Given the description of an element on the screen output the (x, y) to click on. 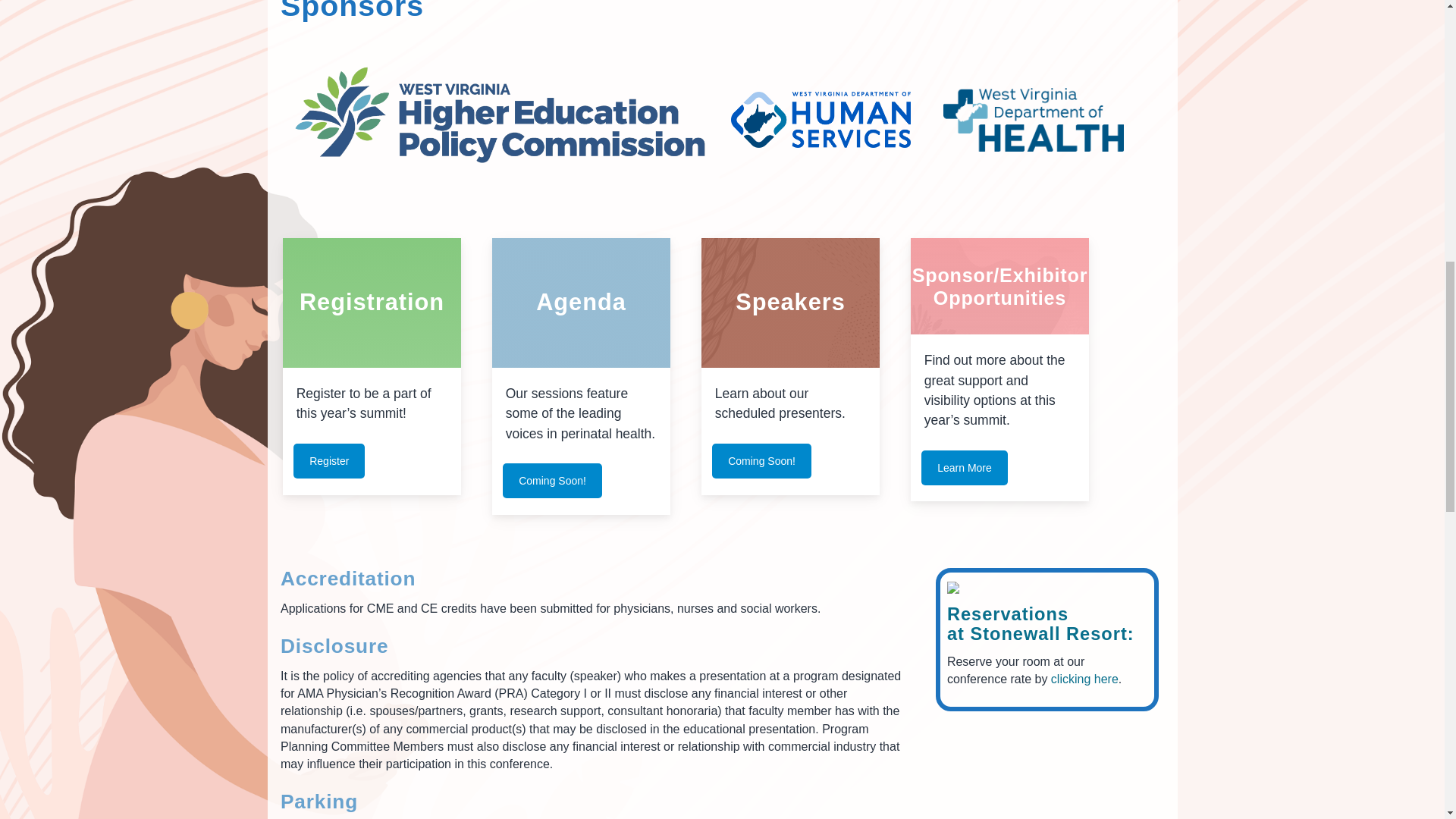
Register (329, 460)
Coming Soon! (760, 460)
Learn More (964, 467)
wvhepc-logo (481, 110)
